Given the description of an element on the screen output the (x, y) to click on. 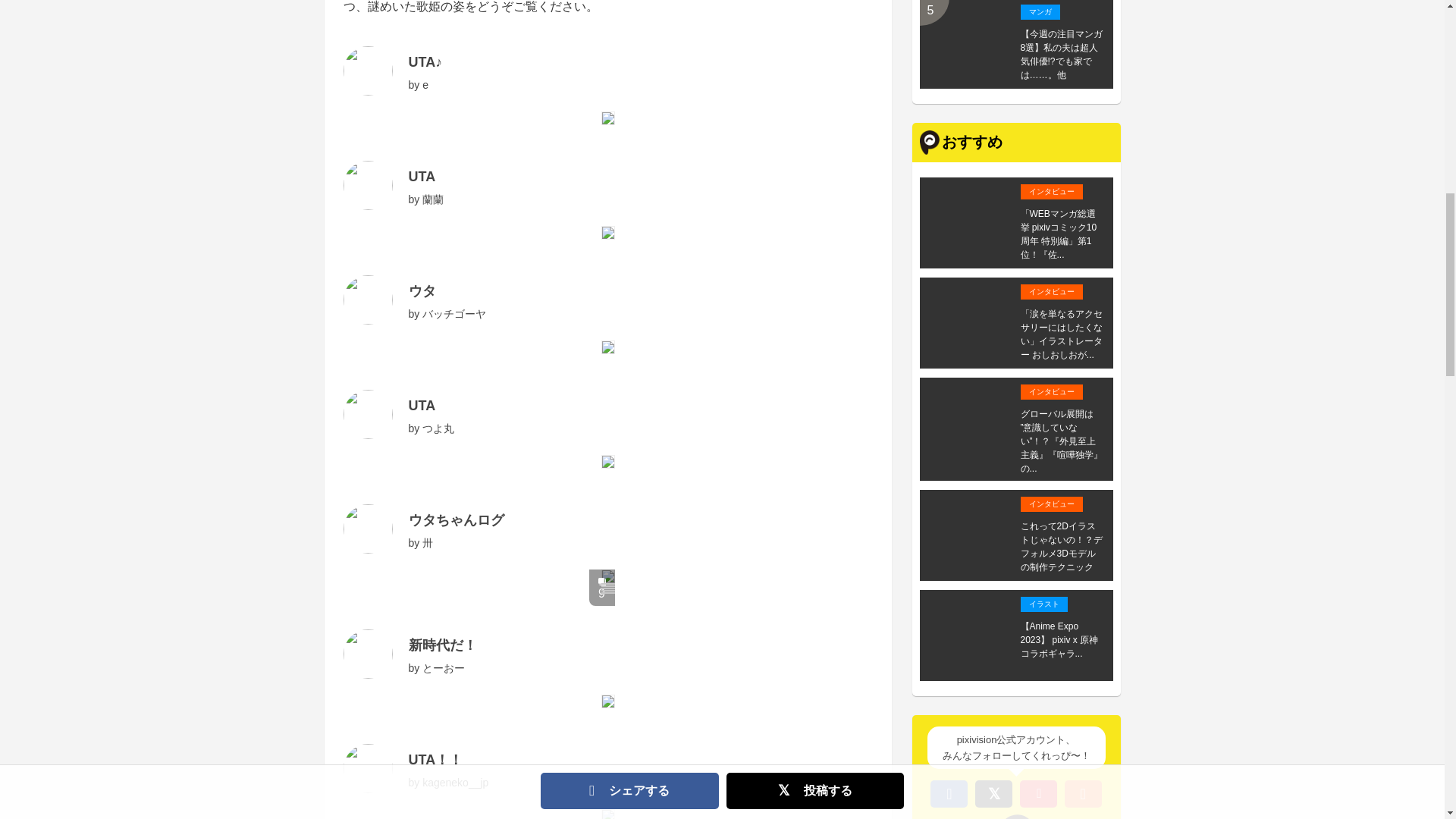
UTA (421, 176)
